Given the description of an element on the screen output the (x, y) to click on. 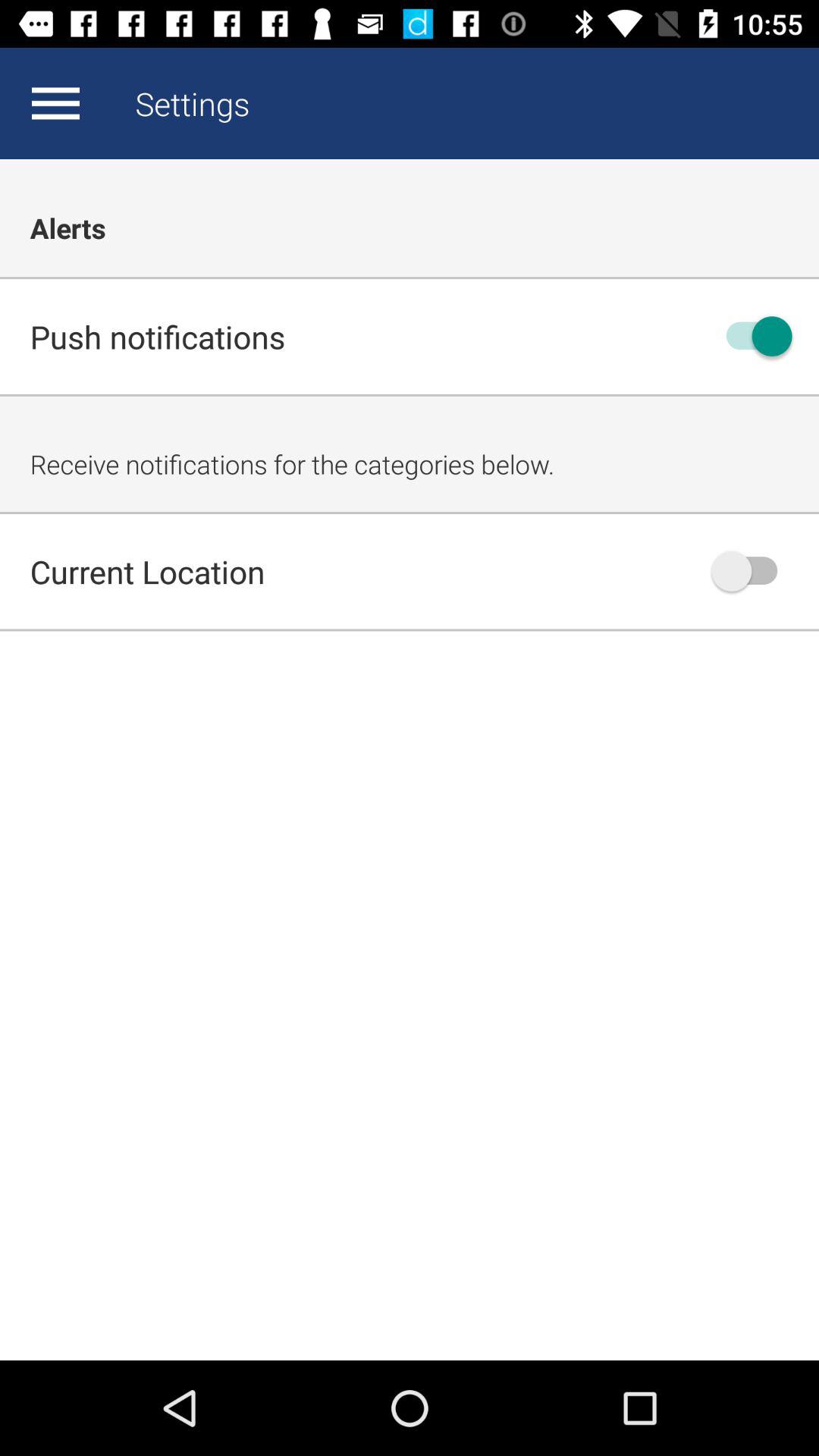
turn off push notifications (751, 336)
